Given the description of an element on the screen output the (x, y) to click on. 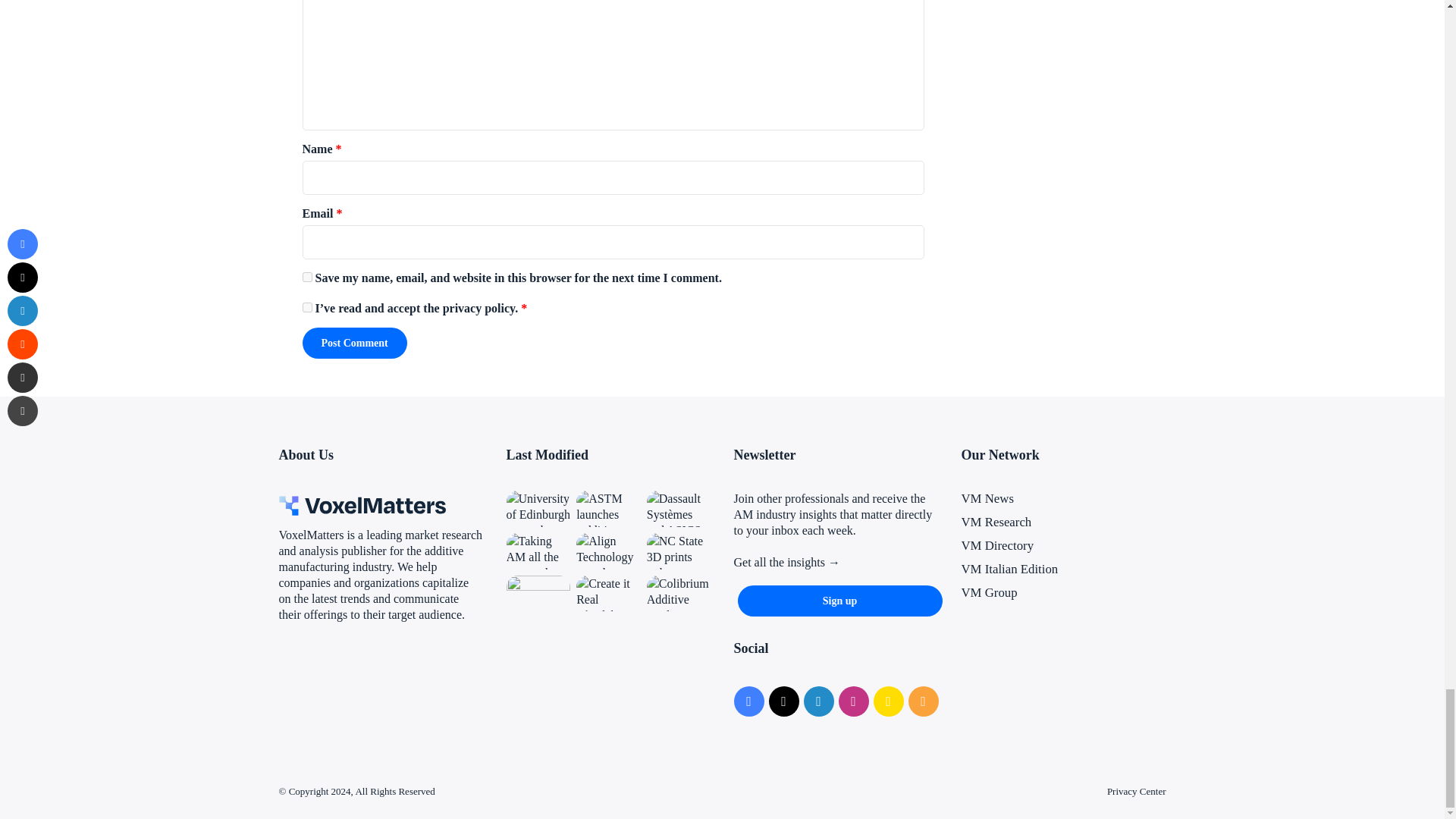
on (306, 307)
yes (306, 276)
Sign up (839, 600)
Post Comment (353, 342)
